Given the description of an element on the screen output the (x, y) to click on. 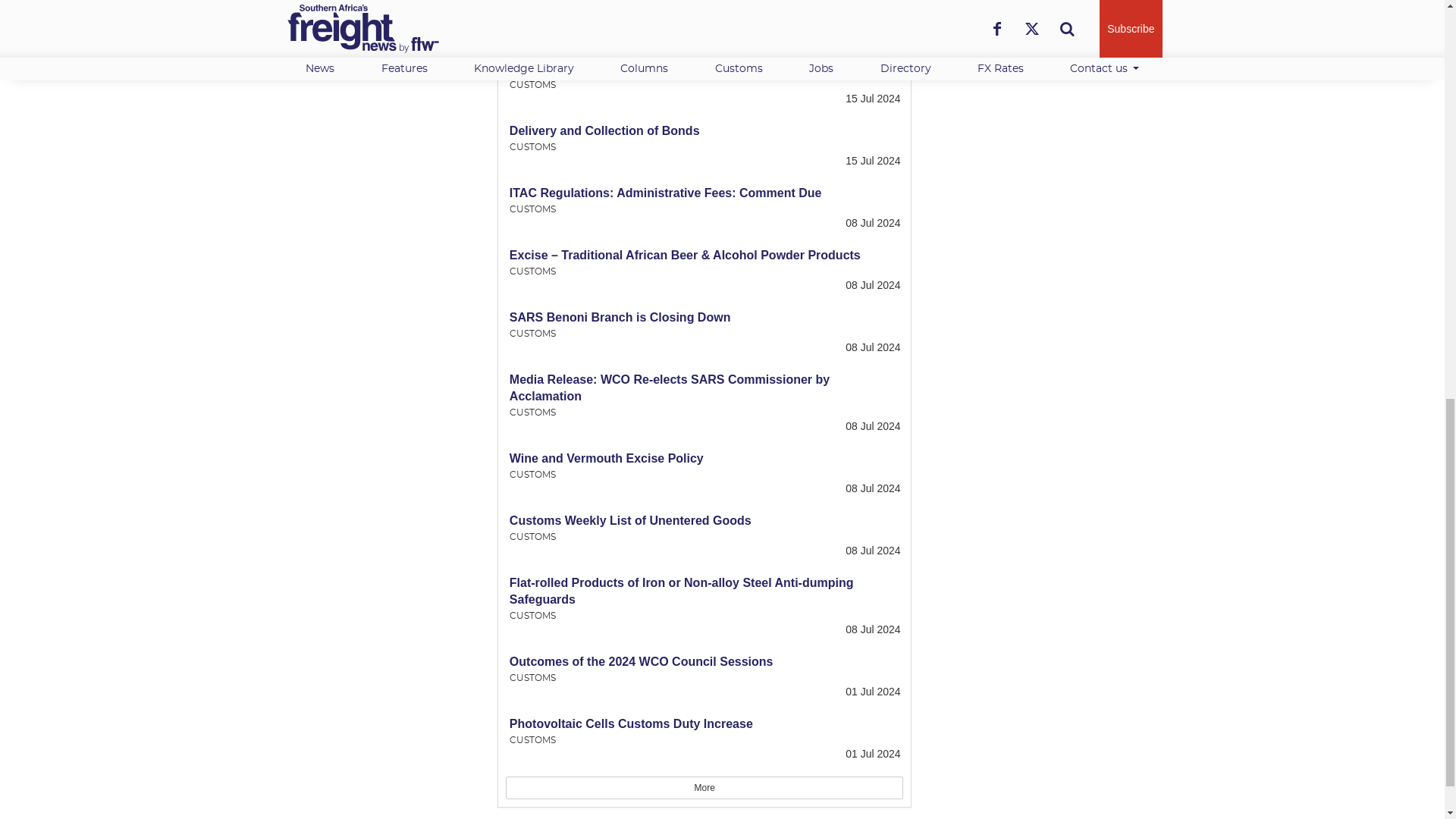
SARS Benoni Branch is Closing Down (619, 317)
Delivery and Collection of Bonds (604, 130)
ITAC Regulations: Administrative Fees: Comment Due (665, 192)
Relocation of SARS Bellville branch (612, 68)
Customs Tariff Determination Enhancements (638, 6)
